Given the description of an element on the screen output the (x, y) to click on. 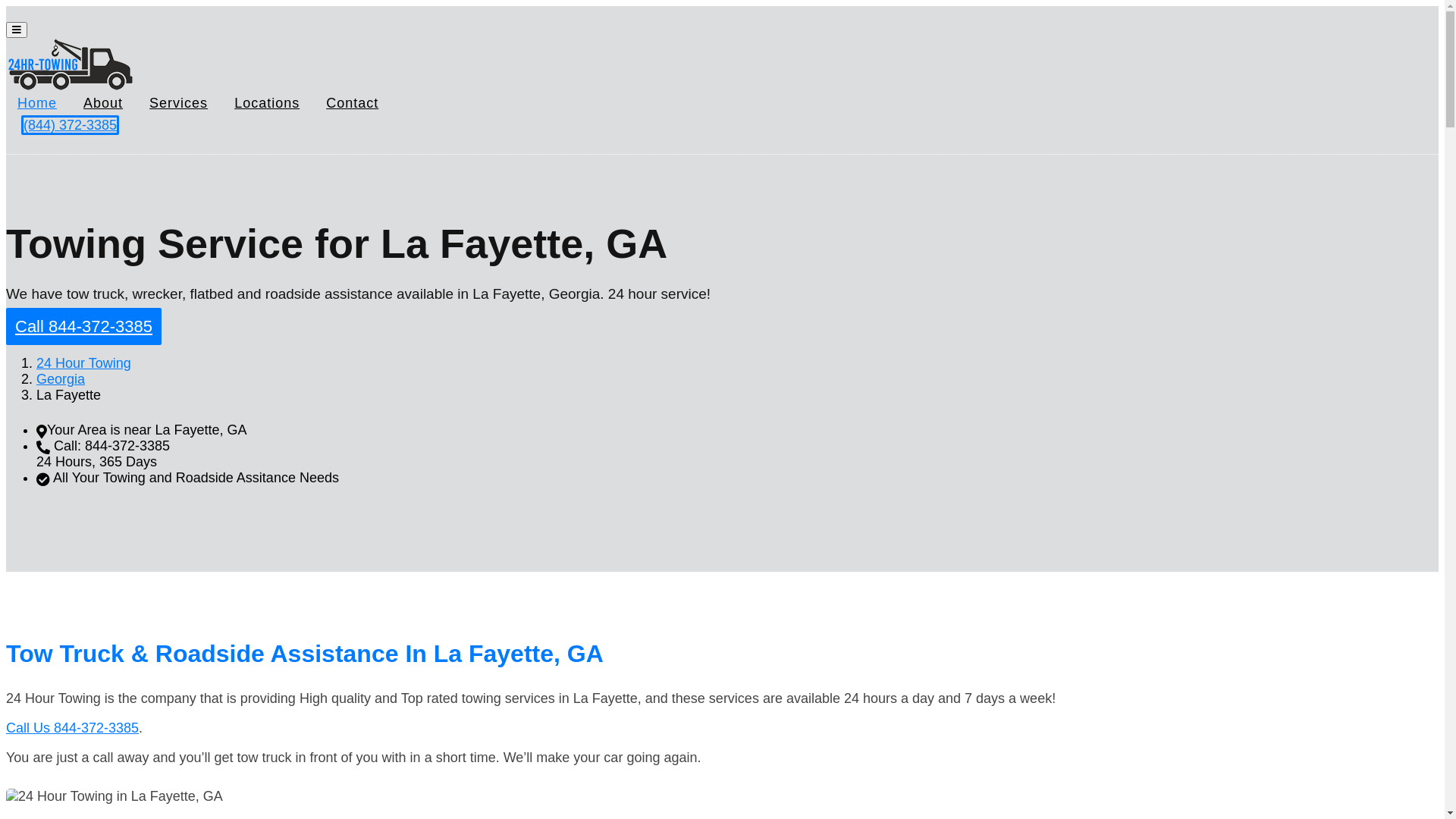
Call Us 844-372-3385 Element type: text (72, 727)
Services Element type: text (178, 103)
Contact Element type: text (351, 103)
Call 844-372-3385 Element type: text (83, 326)
Home Element type: text (37, 103)
(844) 372-3385 Element type: text (70, 124)
24 Hour Towing Element type: text (83, 362)
Georgia Element type: text (60, 378)
About Element type: text (103, 103)
Locations Element type: text (266, 103)
